Given the description of an element on the screen output the (x, y) to click on. 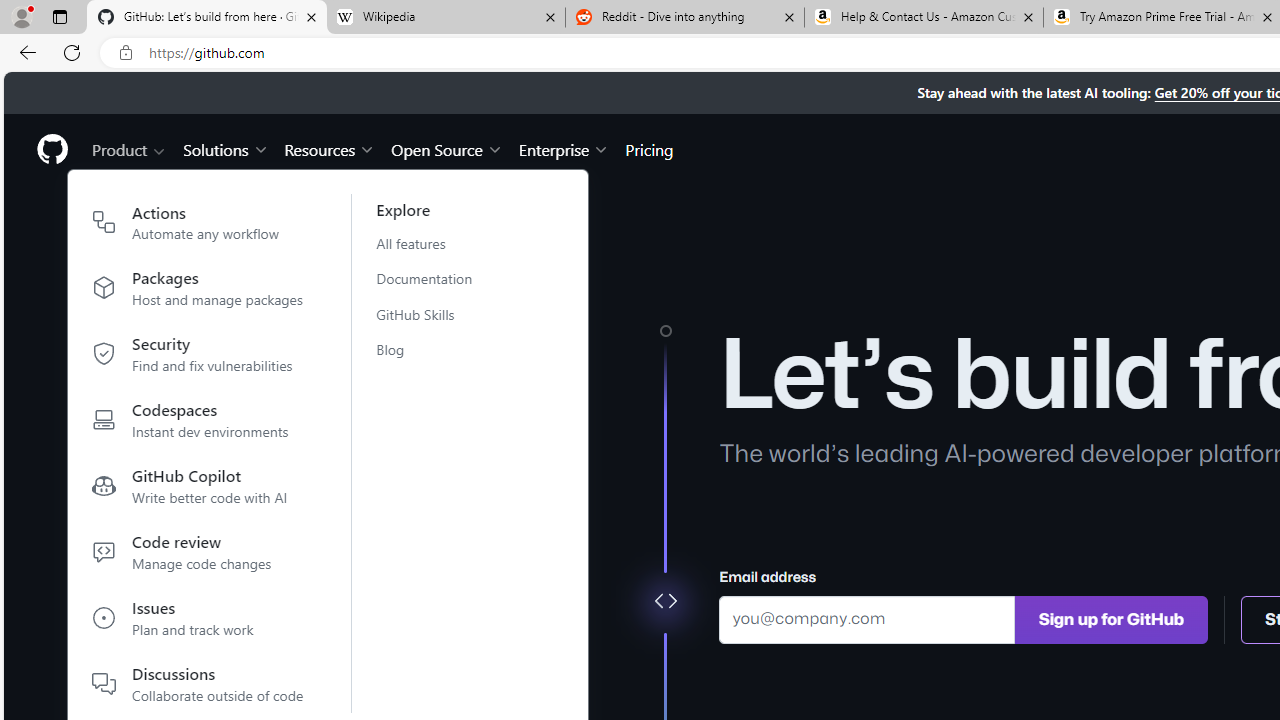
Pricing (649, 148)
PackagesHost and manage packages (198, 292)
Solutions (225, 148)
Security Find and fix vulnerabilities (198, 357)
